Given the description of an element on the screen output the (x, y) to click on. 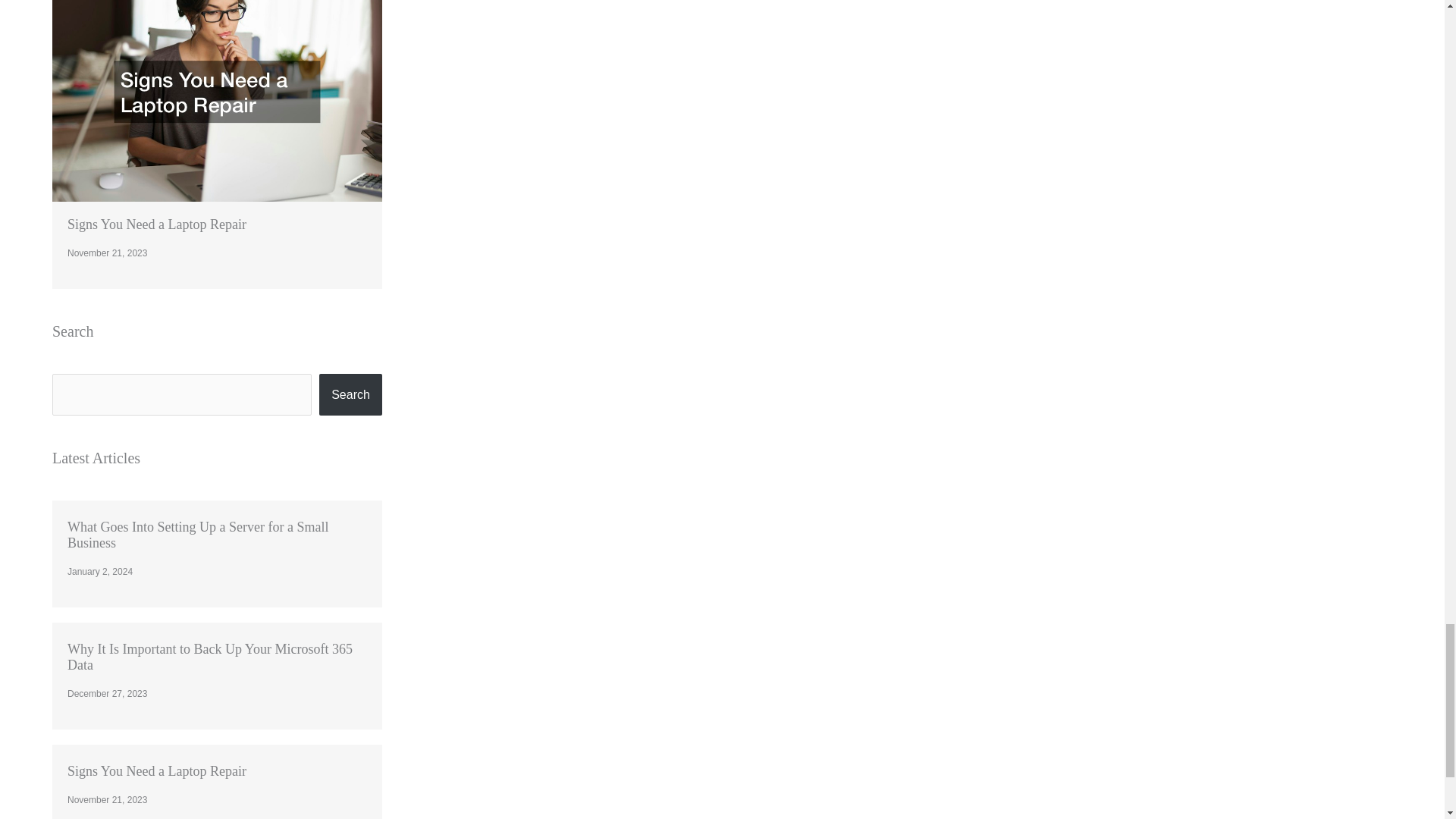
Signs You Need a Laptop Repair (156, 770)
What Goes Into Setting Up a Server for a Small Business (197, 534)
Search (349, 393)
Signs You Need a Laptop Repair (156, 224)
Why It Is Important to Back Up Your Microsoft 365 Data (209, 656)
